Given the description of an element on the screen output the (x, y) to click on. 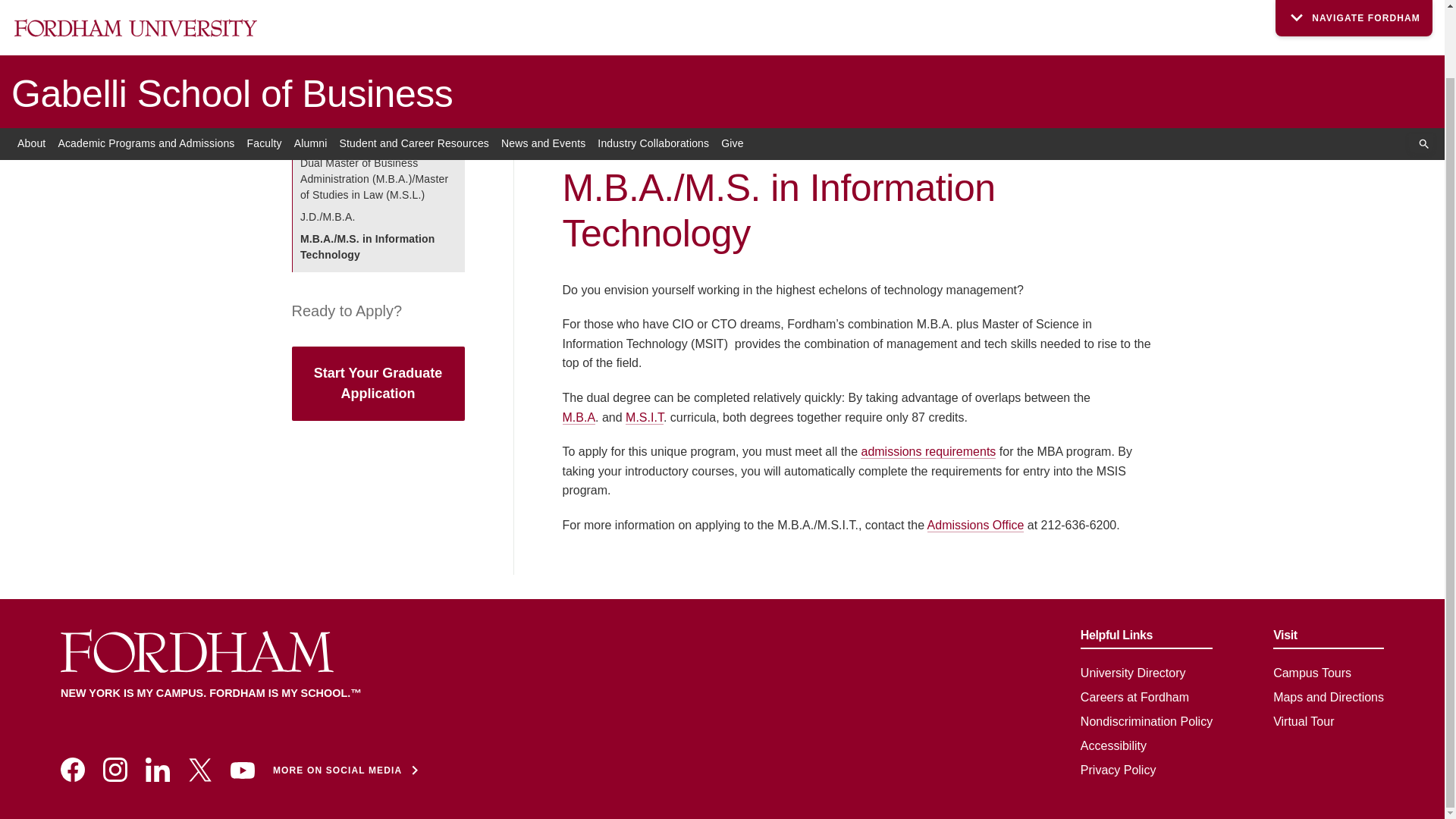
Search icon (1424, 69)
